Given the description of an element on the screen output the (x, y) to click on. 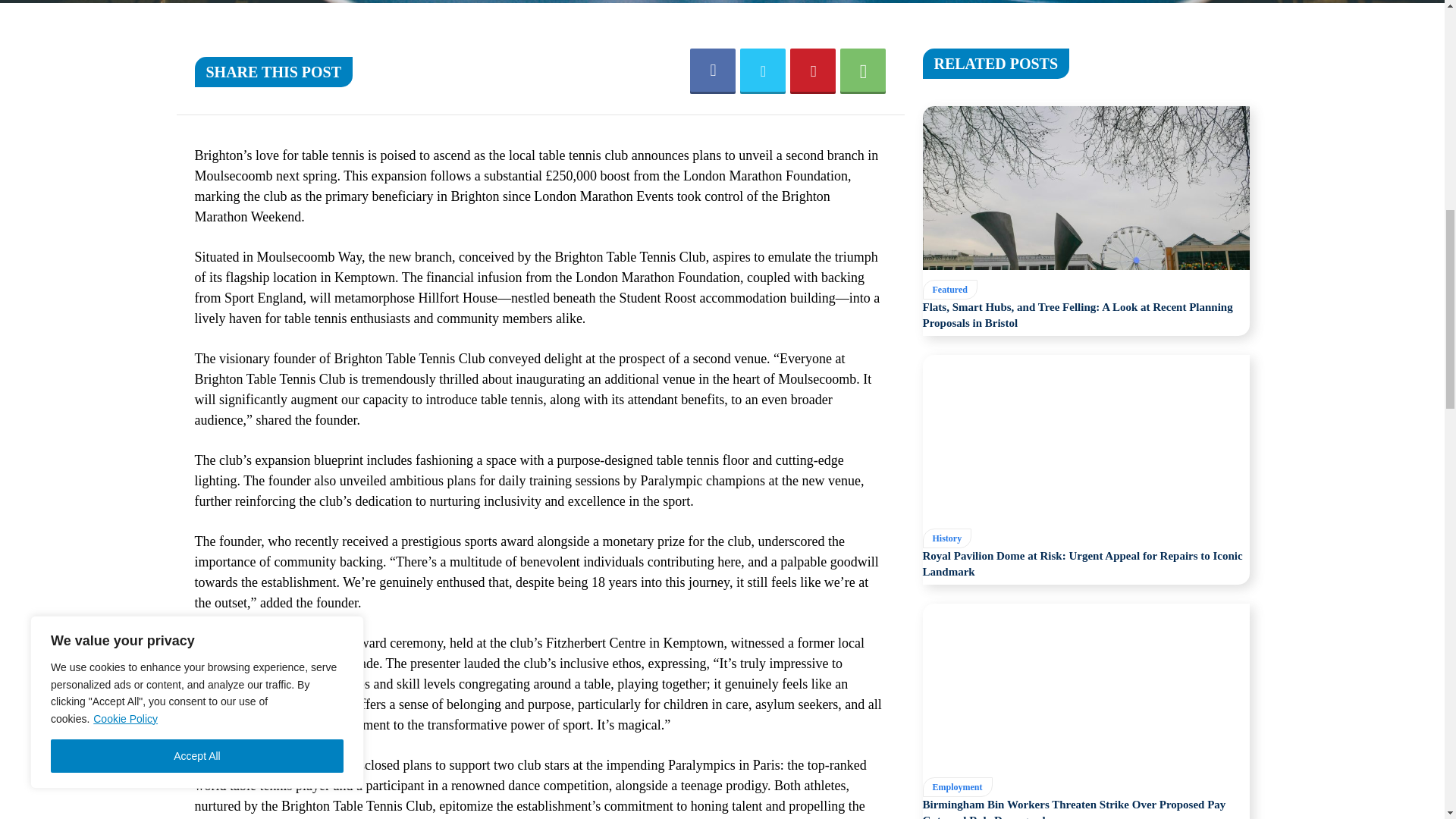
Facebook (712, 71)
WhatsApp (862, 71)
Twitter (762, 71)
Pinterest (812, 71)
